Given the description of an element on the screen output the (x, y) to click on. 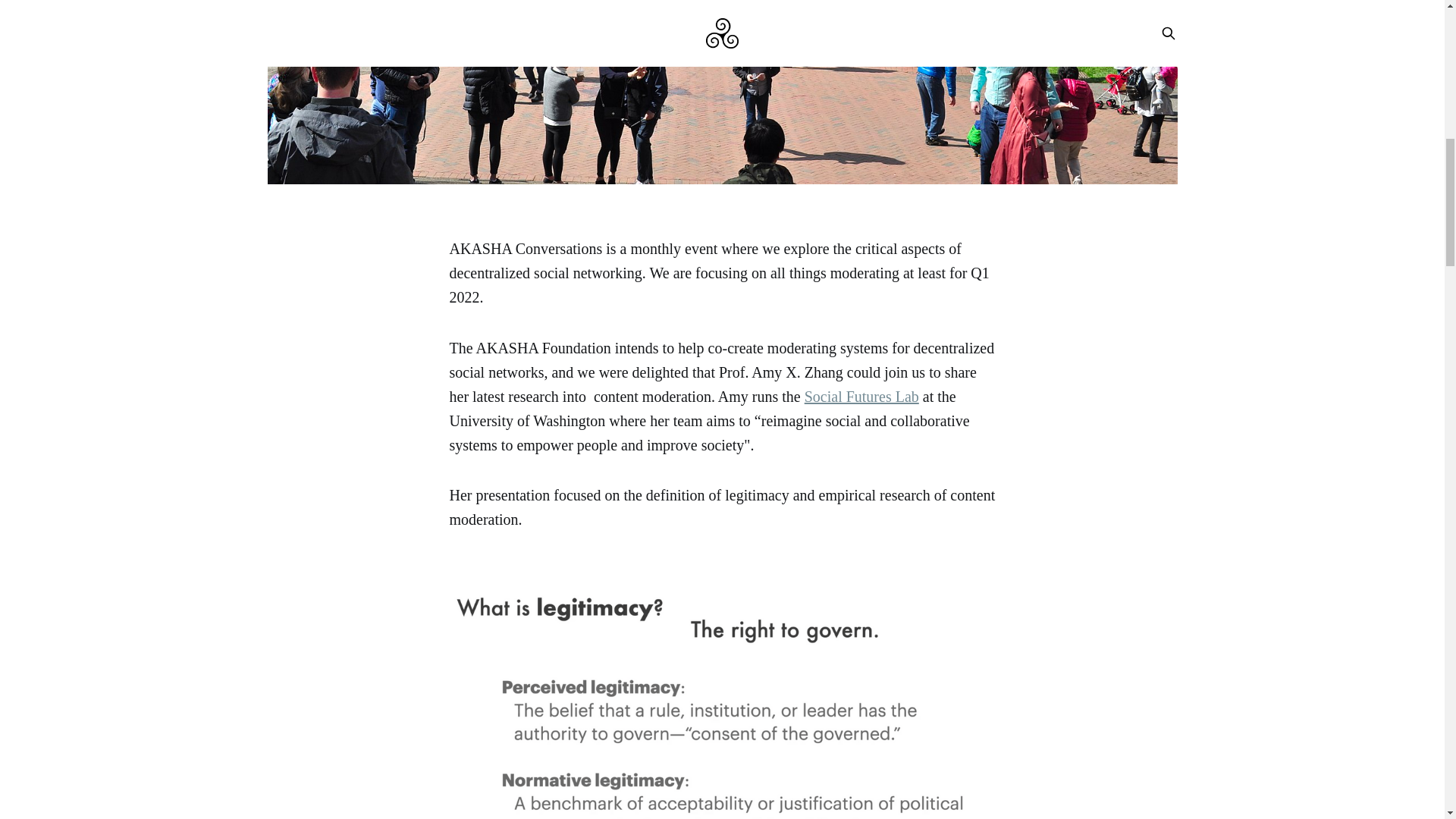
Social Futures Lab (861, 396)
